Given the description of an element on the screen output the (x, y) to click on. 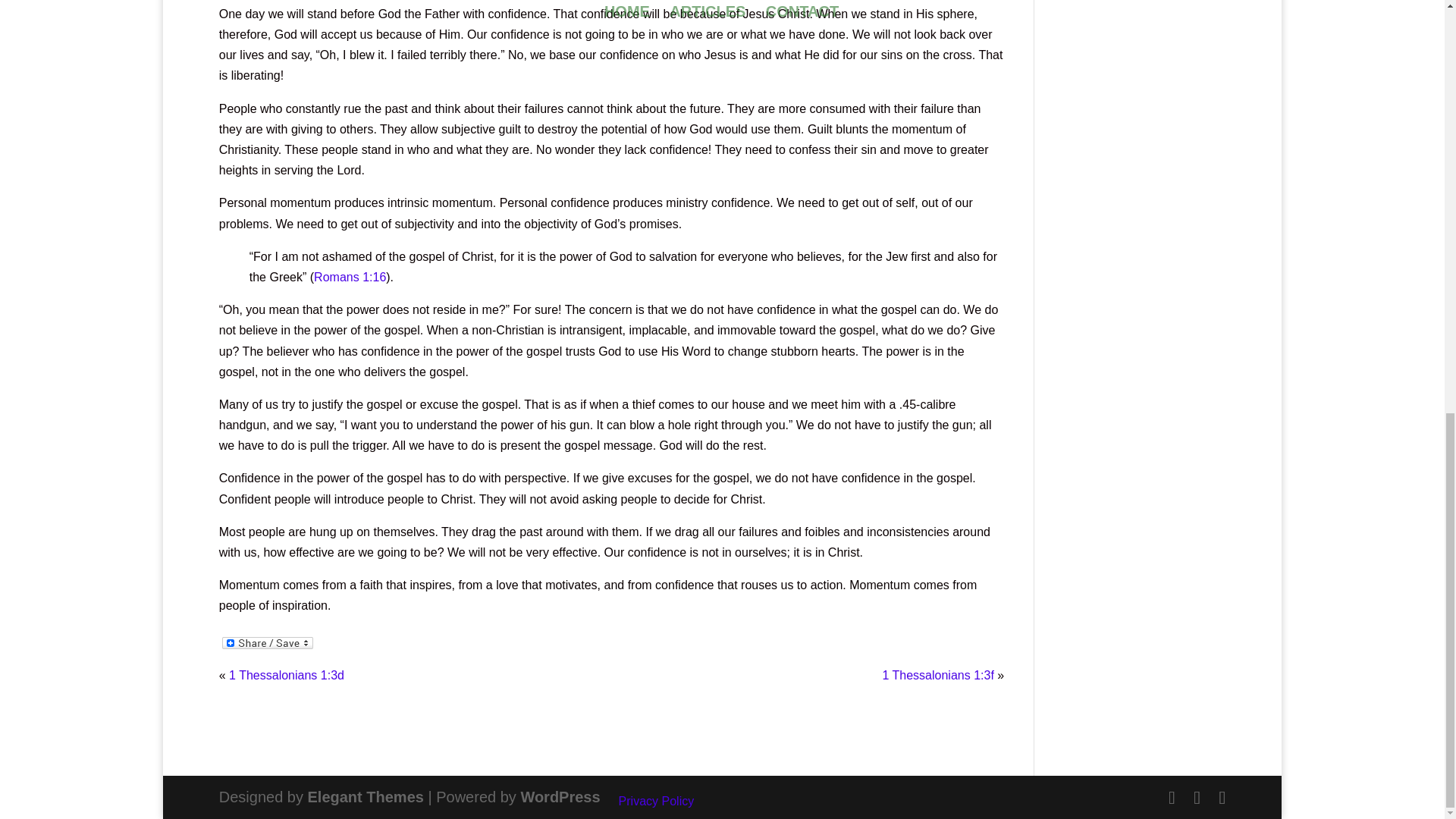
Privacy Policy (656, 800)
Elegant Themes (365, 796)
1 Thessalonians 1:3f (937, 675)
WordPress (559, 796)
Premium WordPress Themes (365, 796)
Romans 1:16 (349, 277)
1 Thessalonians 1:3d (285, 675)
Privacy Policy (656, 800)
